Given the description of an element on the screen output the (x, y) to click on. 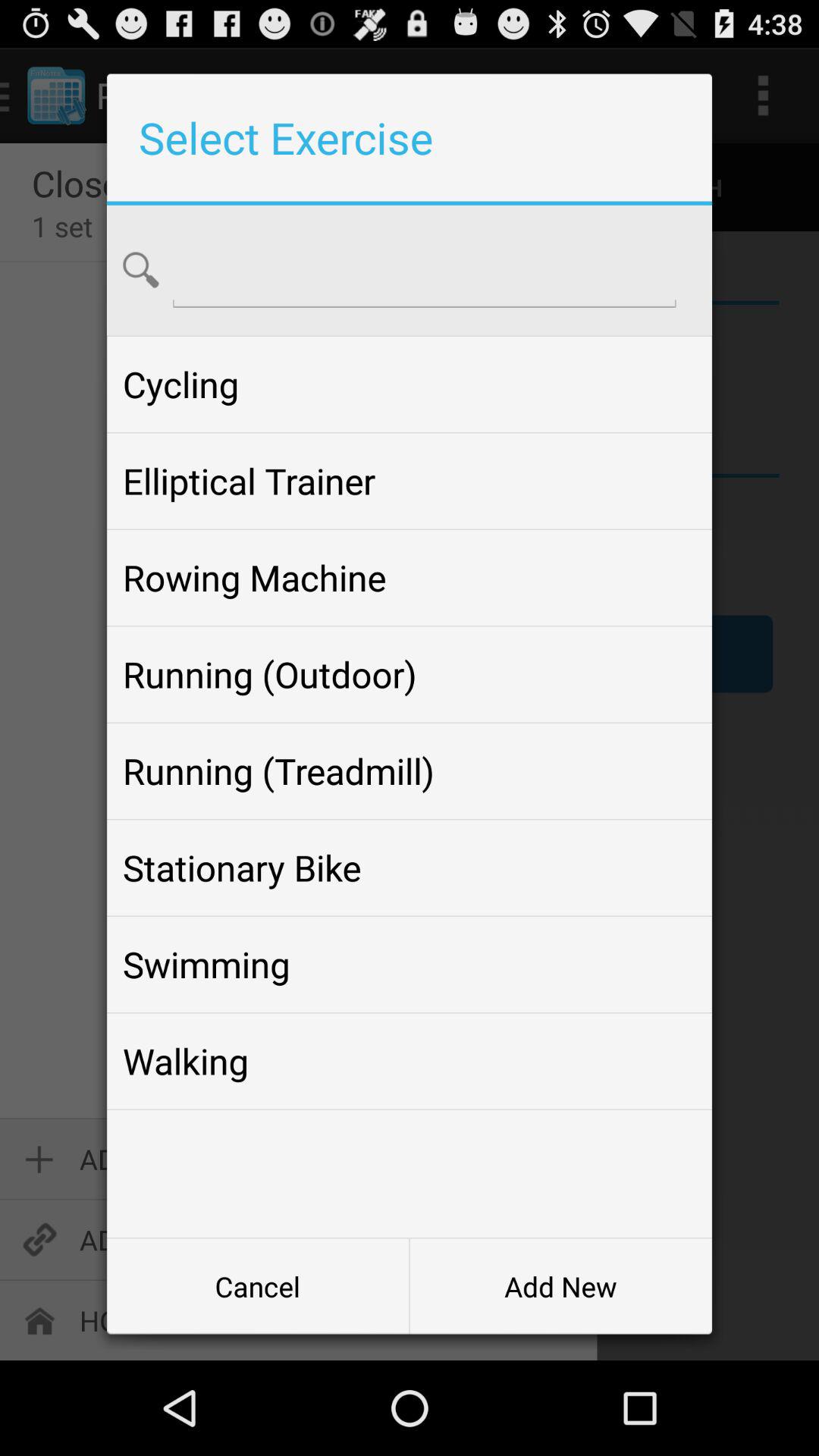
tap the item below the rowing machine app (409, 674)
